Given the description of an element on the screen output the (x, y) to click on. 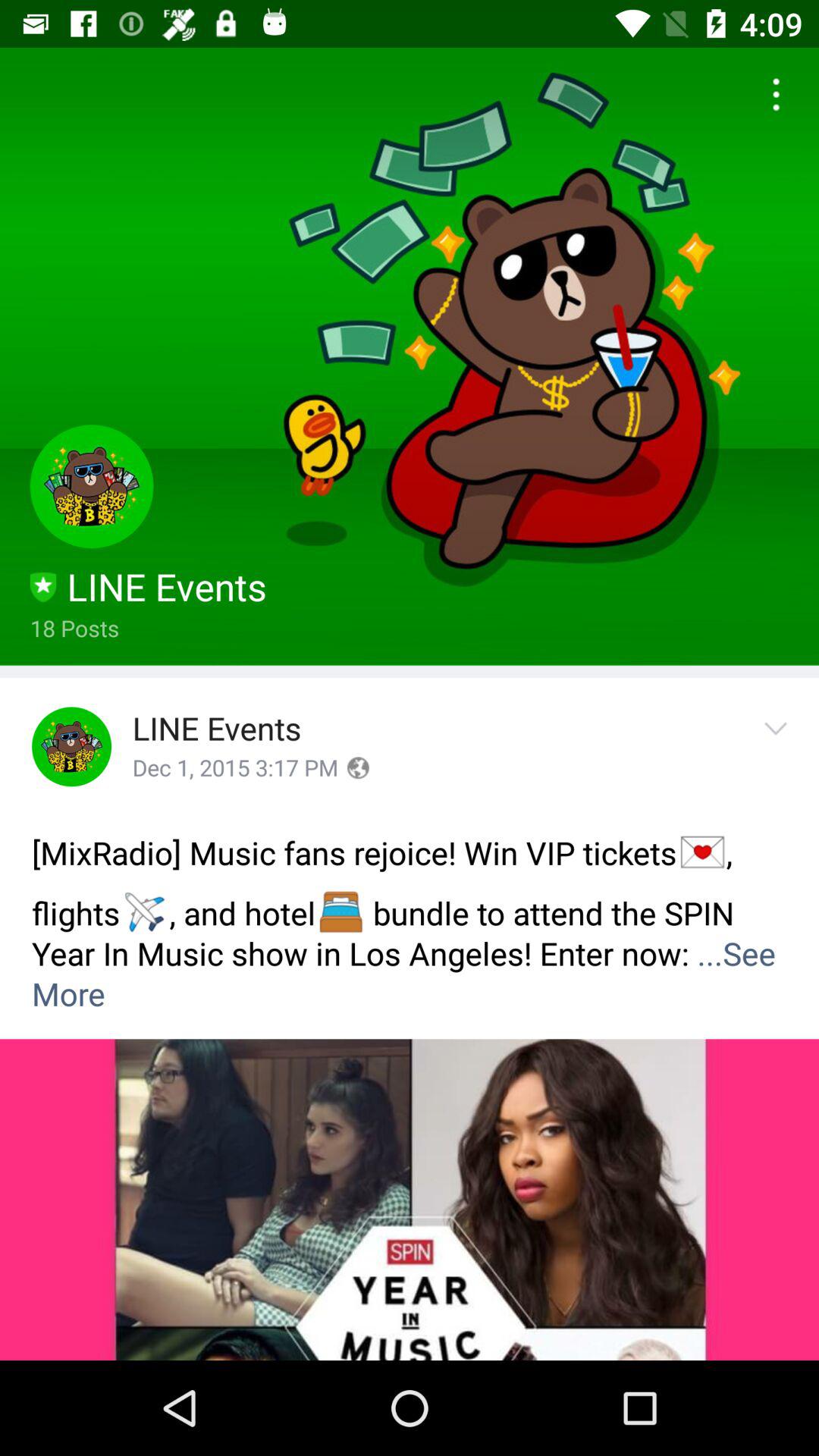
click on the text line events (217, 729)
click on the first profile image (91, 486)
click on the text top right corner (771, 95)
